Given the description of an element on the screen output the (x, y) to click on. 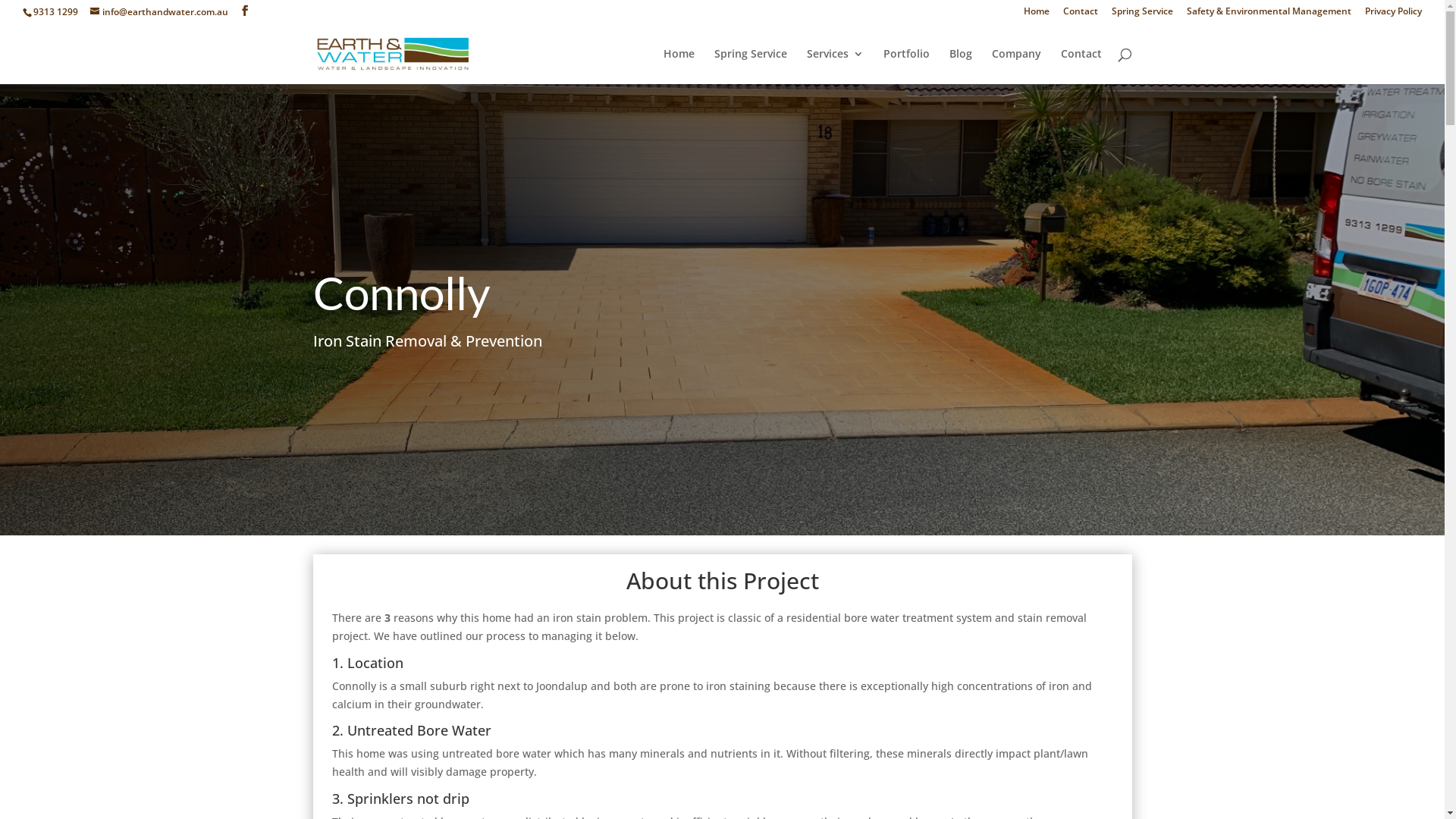
Contact Element type: text (1080, 66)
Home Element type: text (677, 66)
Spring Service Element type: text (1142, 14)
Company Element type: text (1016, 66)
Safety & Environmental Management Element type: text (1268, 14)
Services Element type: text (834, 66)
Spring Service Element type: text (750, 66)
Home Element type: text (1036, 14)
info@earthandwater.com.au Element type: text (159, 11)
Blog Element type: text (960, 66)
Contact Element type: text (1080, 14)
Privacy Policy Element type: text (1393, 14)
Portfolio Element type: text (905, 66)
